Given the description of an element on the screen output the (x, y) to click on. 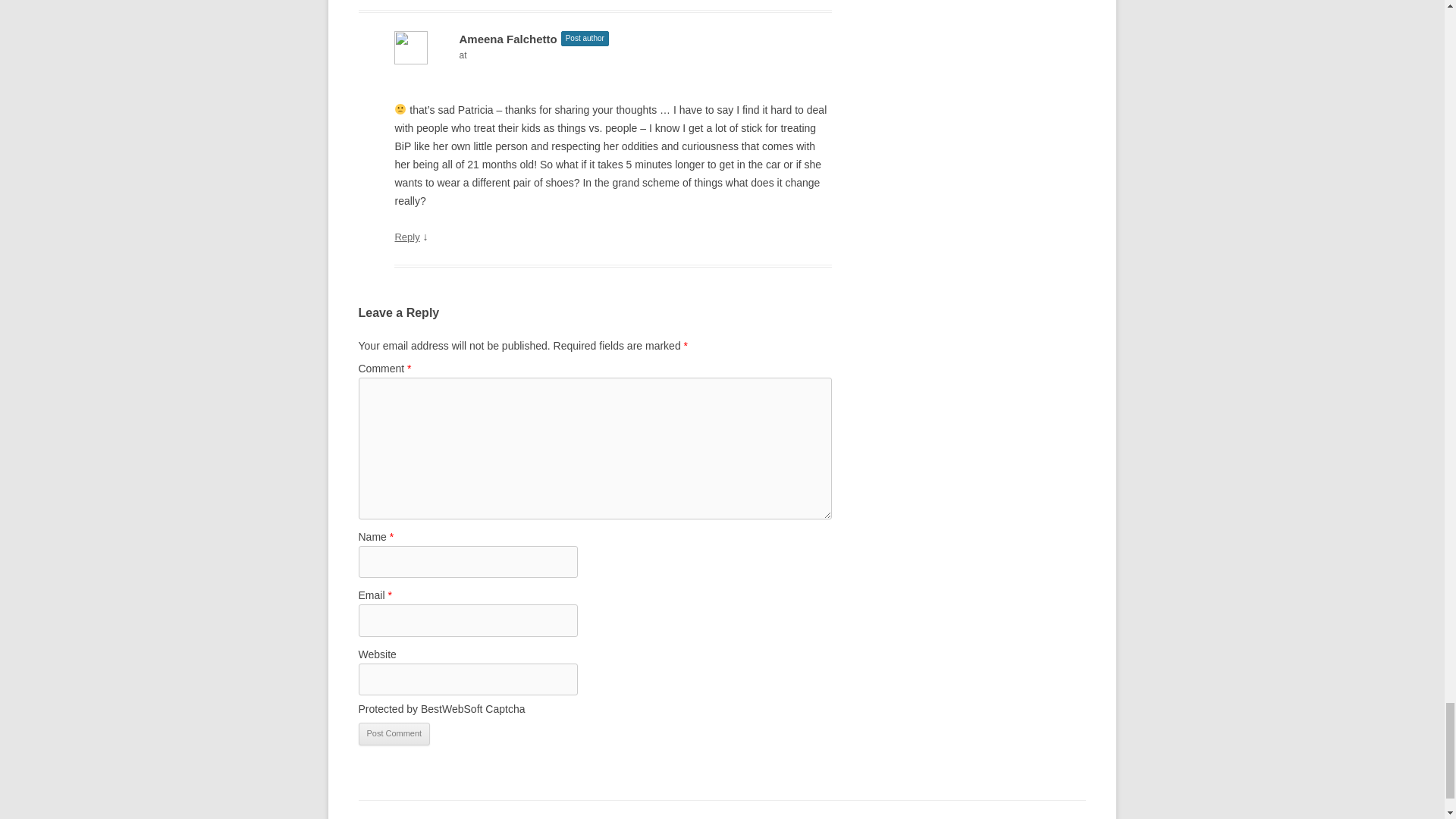
Post Comment (393, 733)
